Given the description of an element on the screen output the (x, y) to click on. 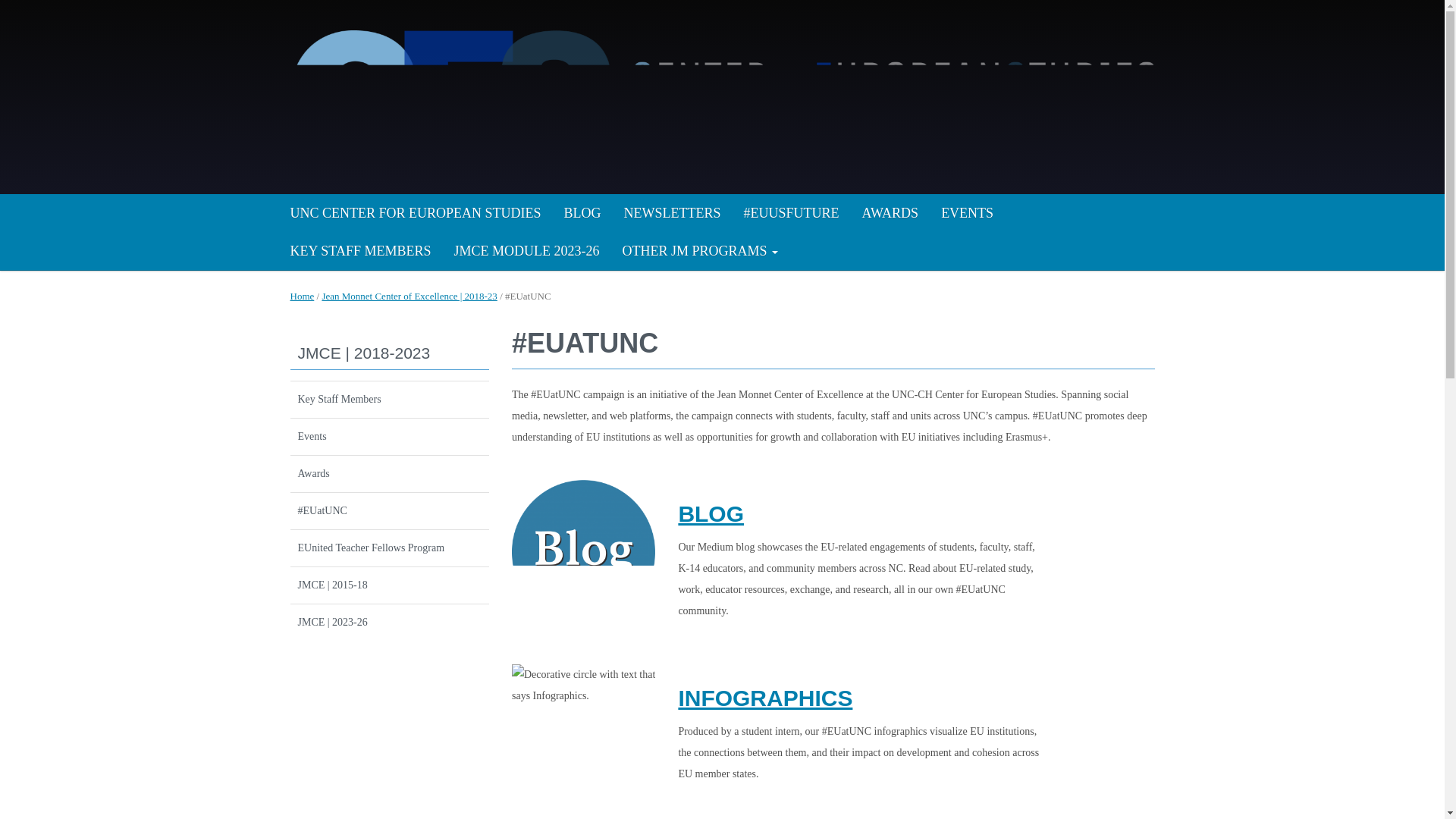
Events (389, 436)
AWARDS (890, 212)
UNC CENTER FOR EUROPEAN STUDIES (416, 212)
Jean Monnet Center of Excellence (721, 94)
OTHER JM PROGRAMS (699, 250)
Key Staff Members (389, 399)
BLOG (711, 513)
KEY STAFF MEMBERS (360, 250)
EVENTS (967, 212)
Home (301, 296)
